Given the description of an element on the screen output the (x, y) to click on. 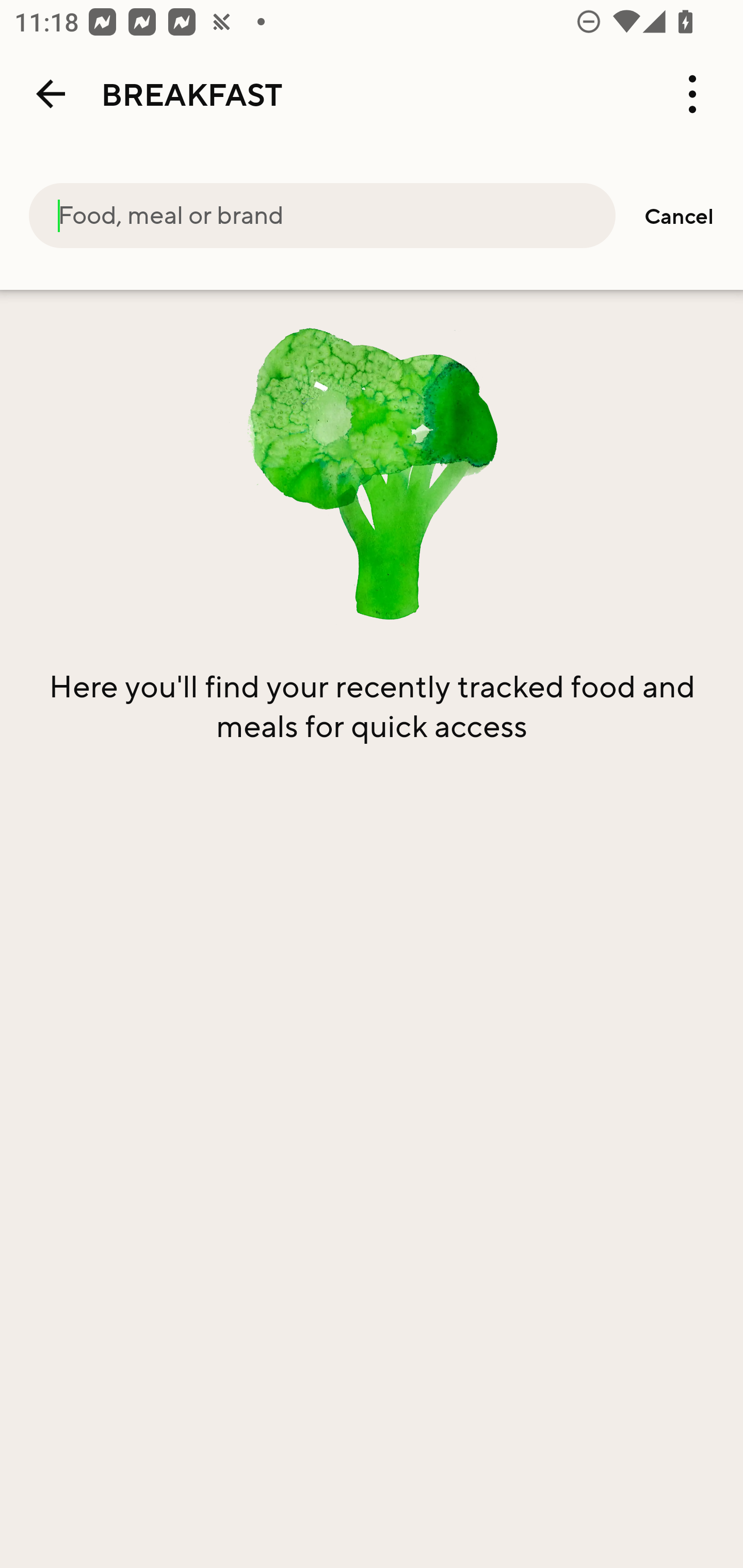
Back (50, 93)
Cancel (679, 215)
